Given the description of an element on the screen output the (x, y) to click on. 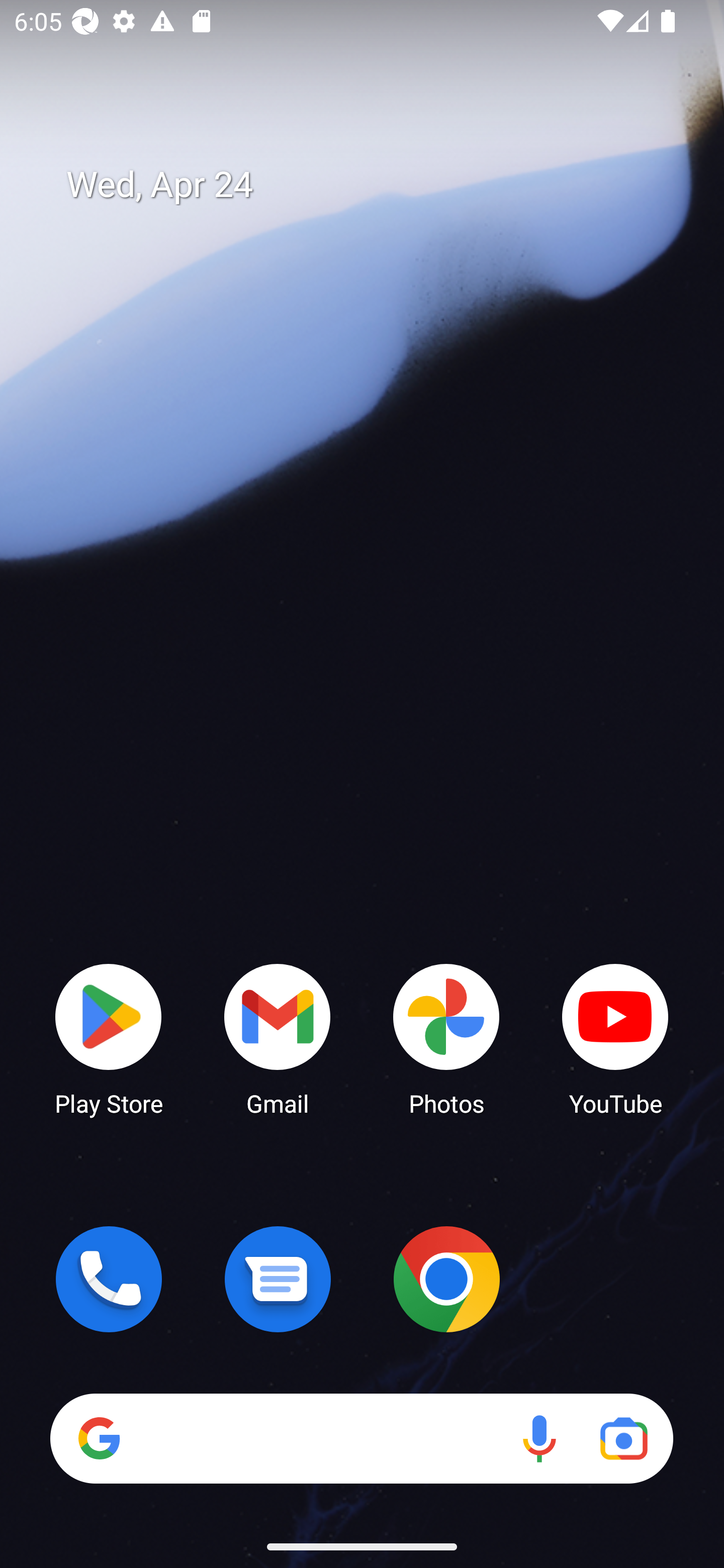
Wed, Apr 24 (375, 184)
Play Store (108, 1038)
Gmail (277, 1038)
Photos (445, 1038)
YouTube (615, 1038)
Phone (108, 1279)
Messages (277, 1279)
Chrome (446, 1279)
Search Voice search Google Lens (361, 1438)
Voice search (539, 1438)
Google Lens (623, 1438)
